Given the description of an element on the screen output the (x, y) to click on. 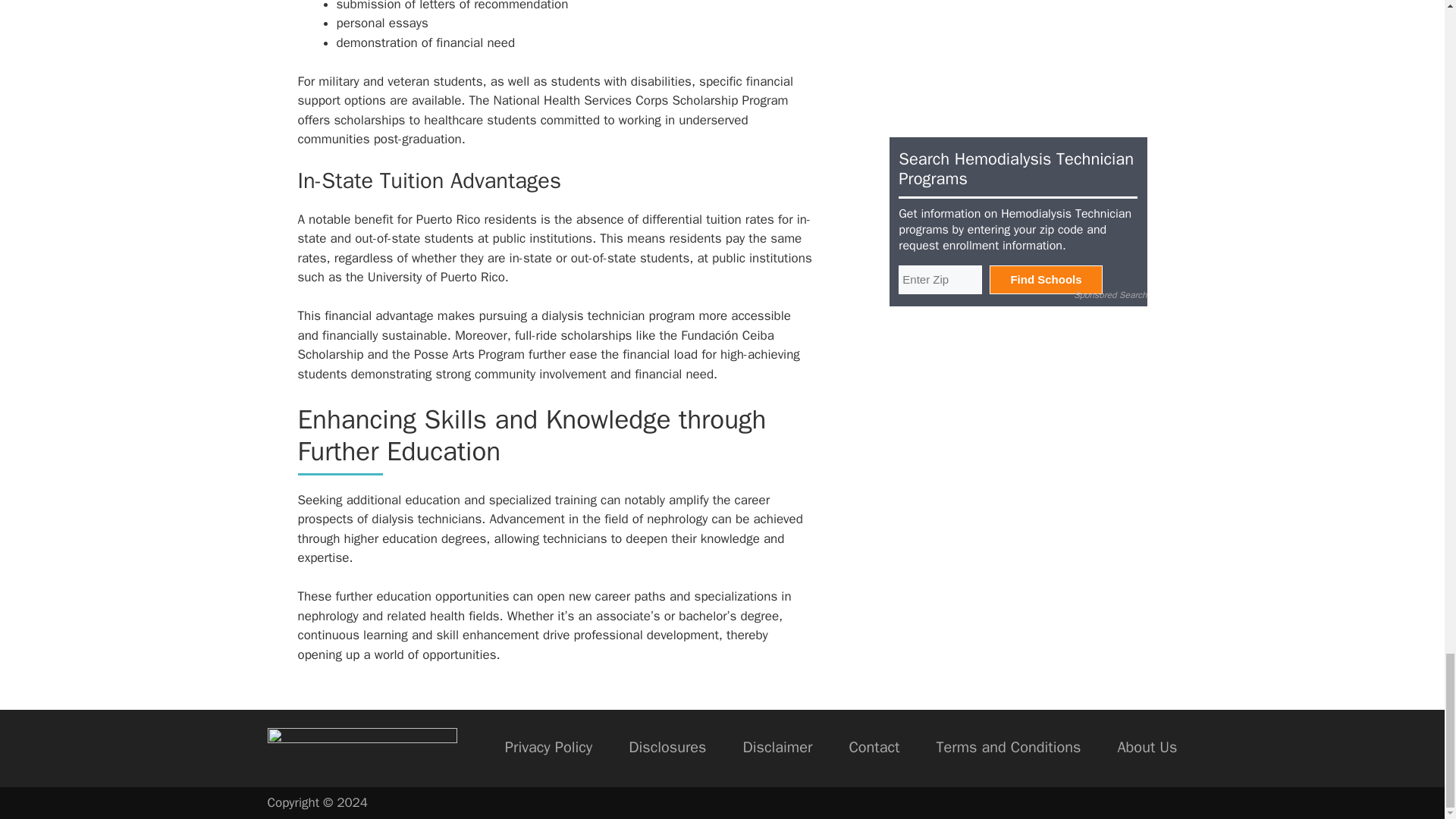
Disclosures (667, 748)
Disclaimer (777, 748)
Privacy Policy (548, 748)
Contact (873, 748)
